Given the description of an element on the screen output the (x, y) to click on. 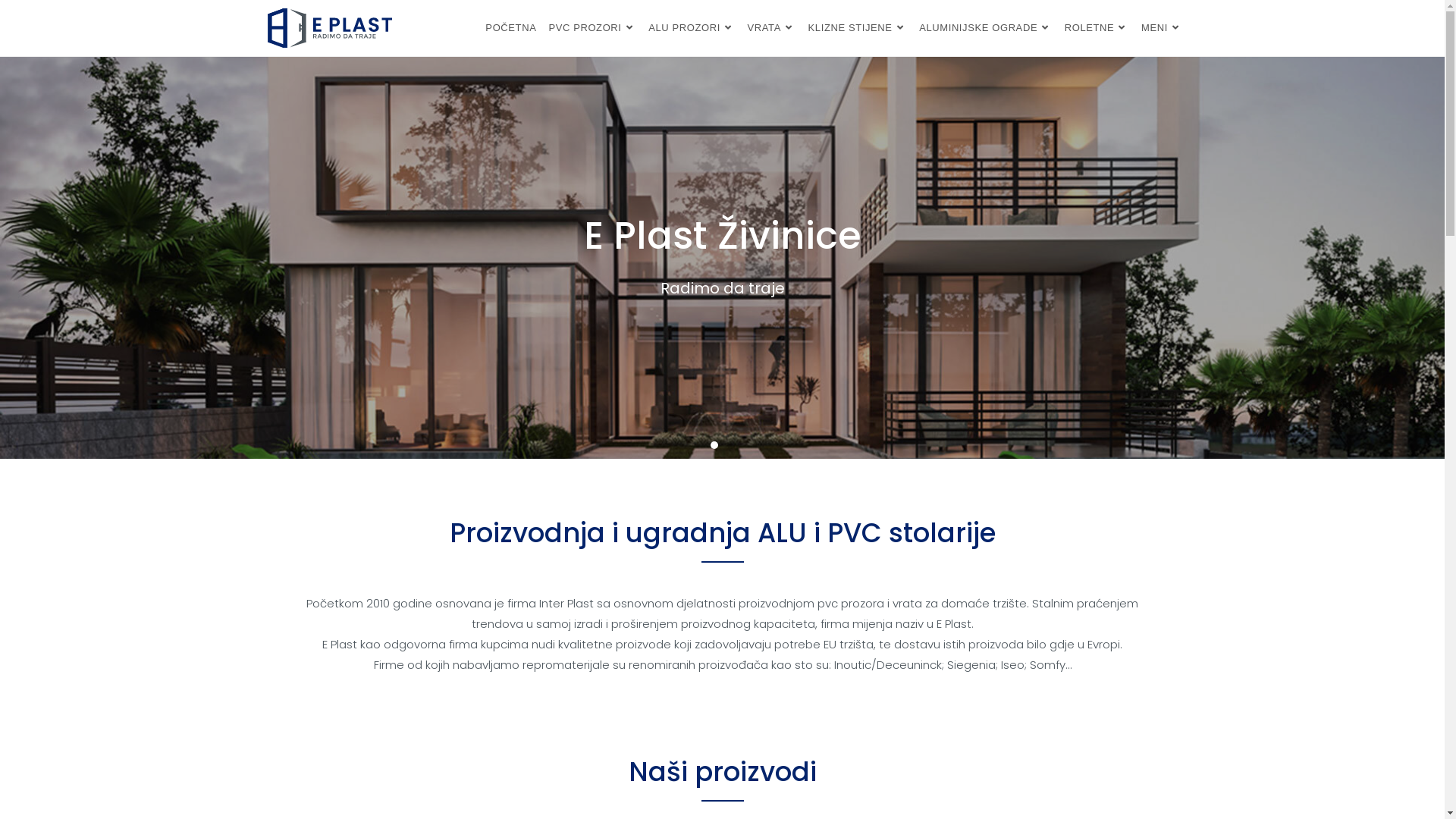
KLIZNE STIJENE Element type: text (857, 28)
ALU PROZORI Element type: text (691, 28)
ALUMINIJSKE OGRADE Element type: text (985, 28)
ROLETNE Element type: text (1096, 28)
VRATA Element type: text (771, 28)
PVC PROZORI Element type: text (592, 28)
MENI Element type: text (1162, 28)
